Given the description of an element on the screen output the (x, y) to click on. 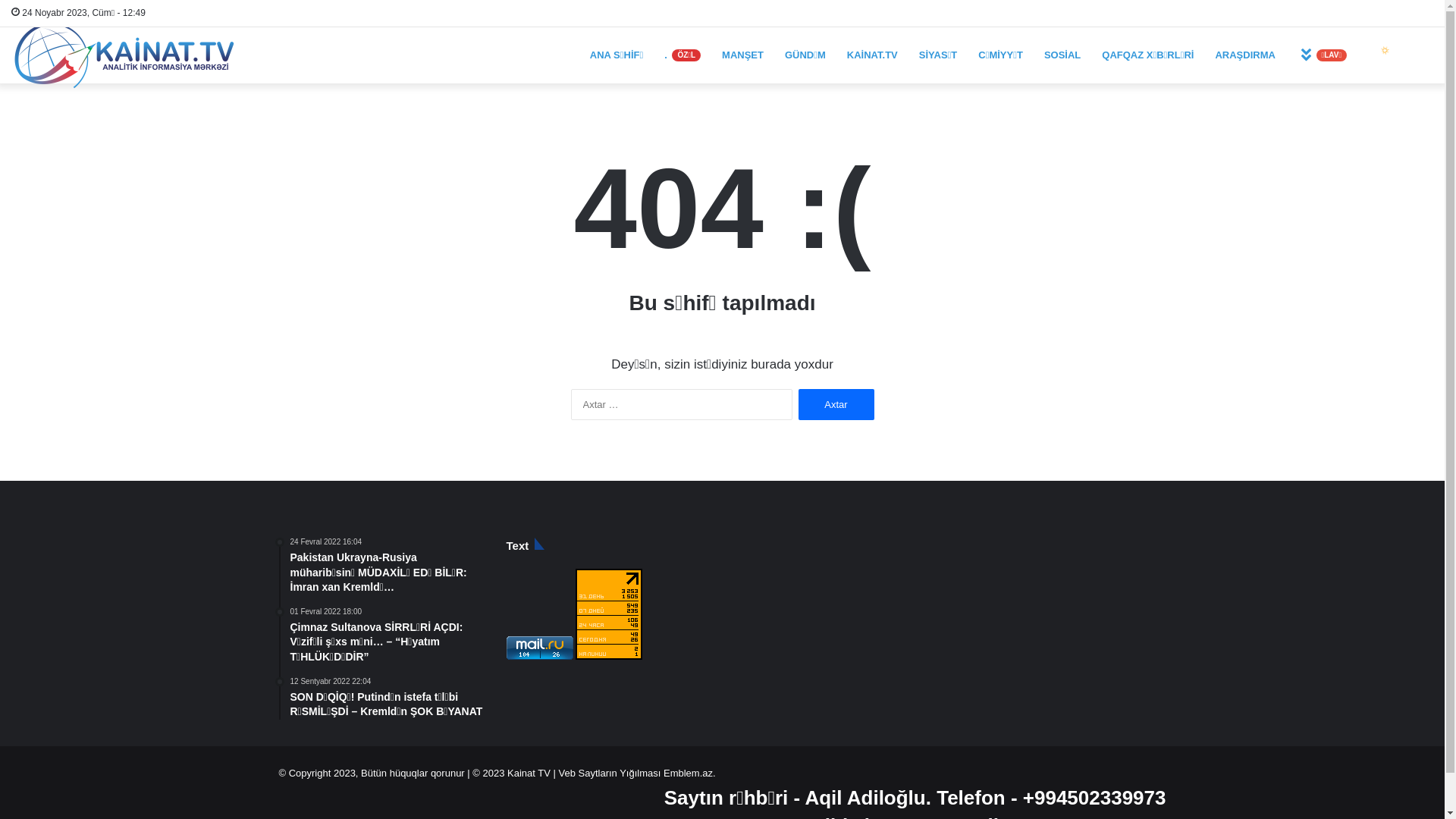
Axtar Element type: text (835, 404)
KAINAT.TV Element type: text (872, 54)
Emblem.az Element type: text (686, 772)
Kainat TV Element type: text (528, 772)
LiveInternet: number of visitors and pageviews is shown Element type: hover (608, 613)
